Given the description of an element on the screen output the (x, y) to click on. 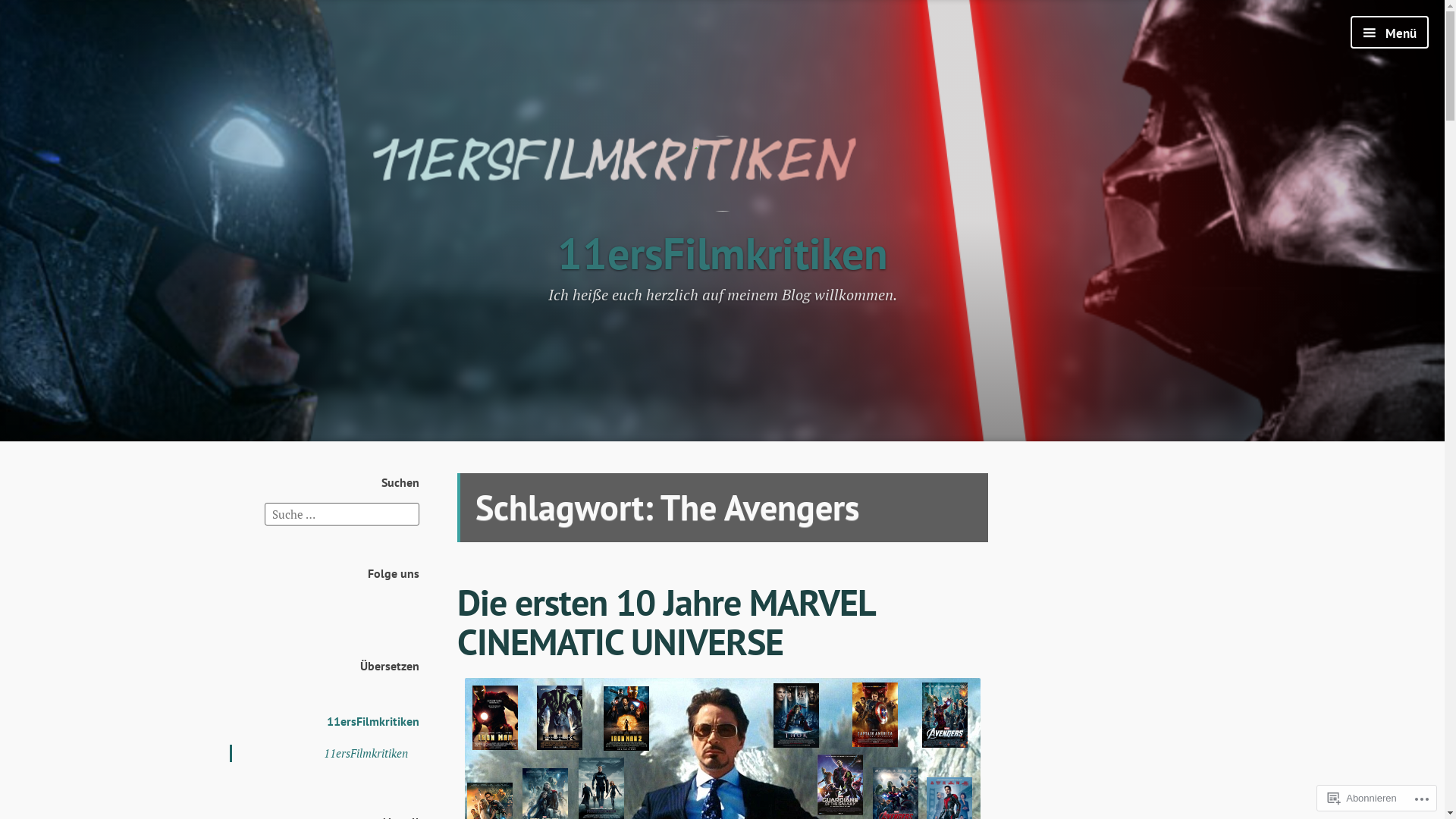
11ersFilmkritiken Element type: text (365, 752)
11ersFilmkritiken Element type: text (721, 252)
11ersFilmkritiken Element type: text (372, 720)
Suche Element type: text (28, 14)
Abonnieren Element type: text (1361, 797)
Die ersten 10 Jahre MARVEL CINEMATIC UNIVERSE Element type: text (664, 622)
